Given the description of an element on the screen output the (x, y) to click on. 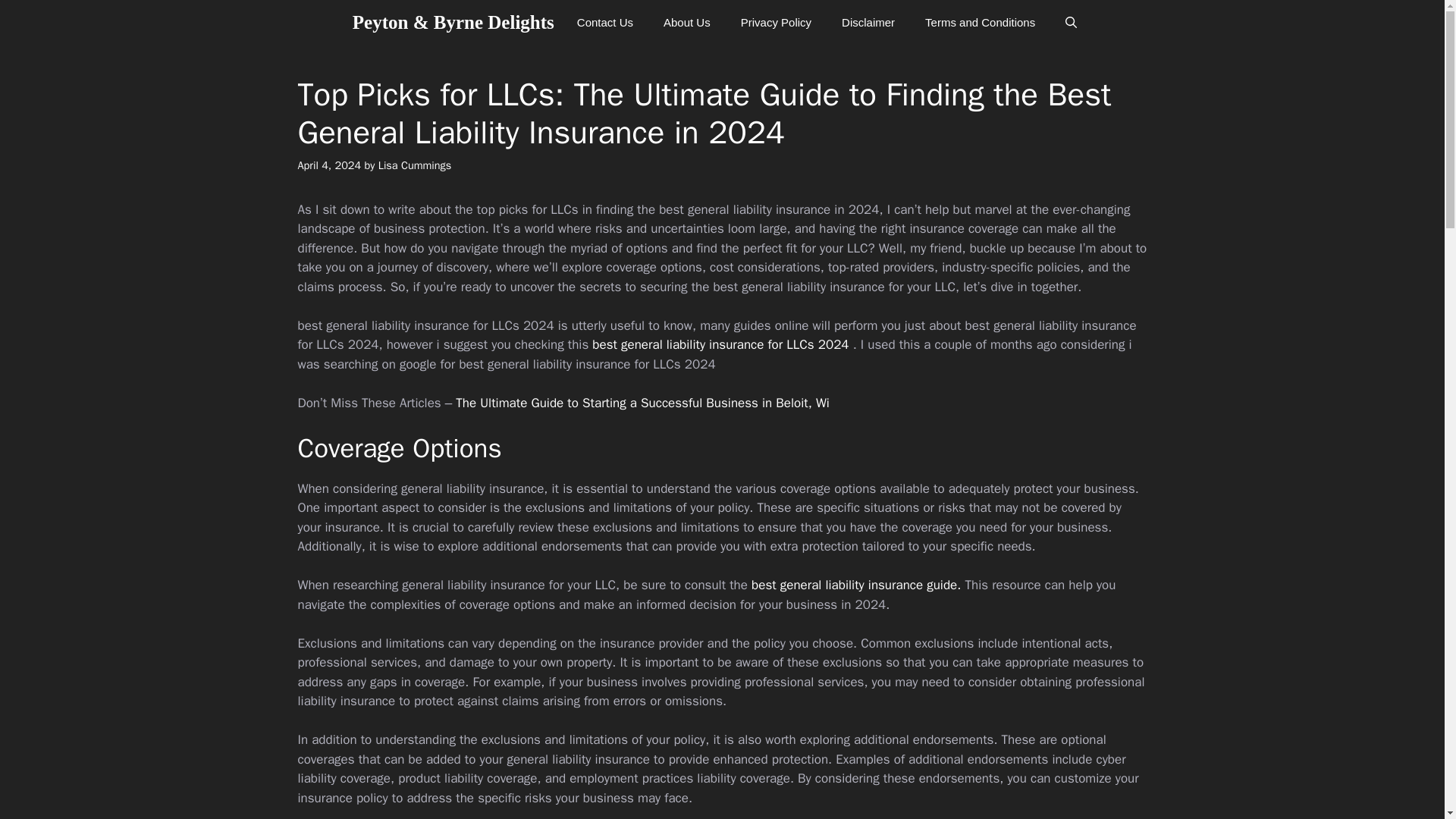
best general liability insurance for LLCs 2024 (720, 344)
best general liability insurance guide. (855, 584)
Contact Us (604, 22)
About Us (686, 22)
Terms and Conditions (979, 22)
Privacy Policy (776, 22)
View all posts by Lisa Cummings (414, 164)
Disclaimer (868, 22)
Lisa Cummings (414, 164)
